Given the description of an element on the screen output the (x, y) to click on. 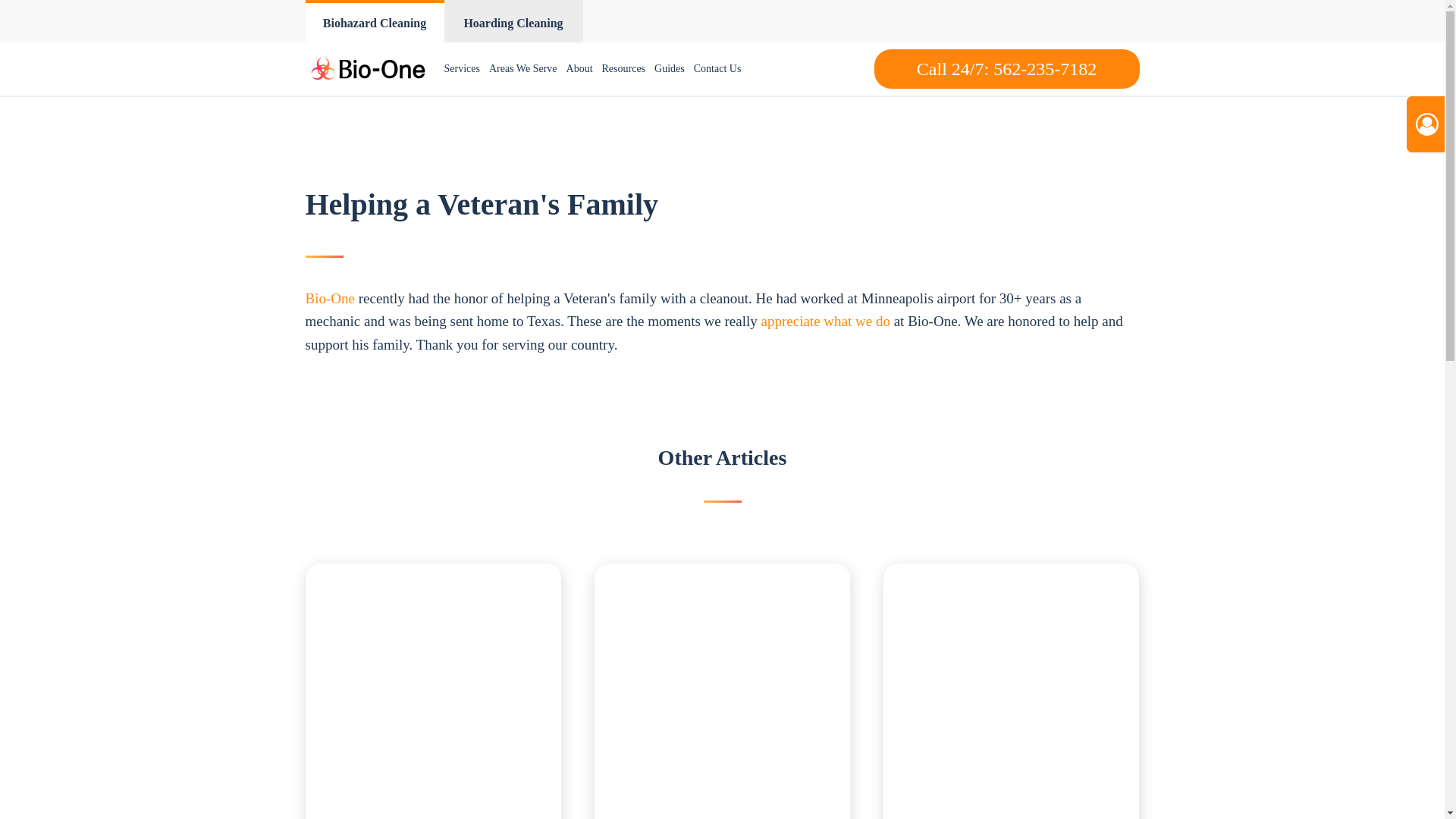
Hoarding Cleaning (513, 21)
Areas We Serve (523, 68)
Resources (623, 68)
Biohazard Cleaning (374, 21)
Services (461, 68)
Bio-One (328, 298)
Contact Us (716, 68)
